Given the description of an element on the screen output the (x, y) to click on. 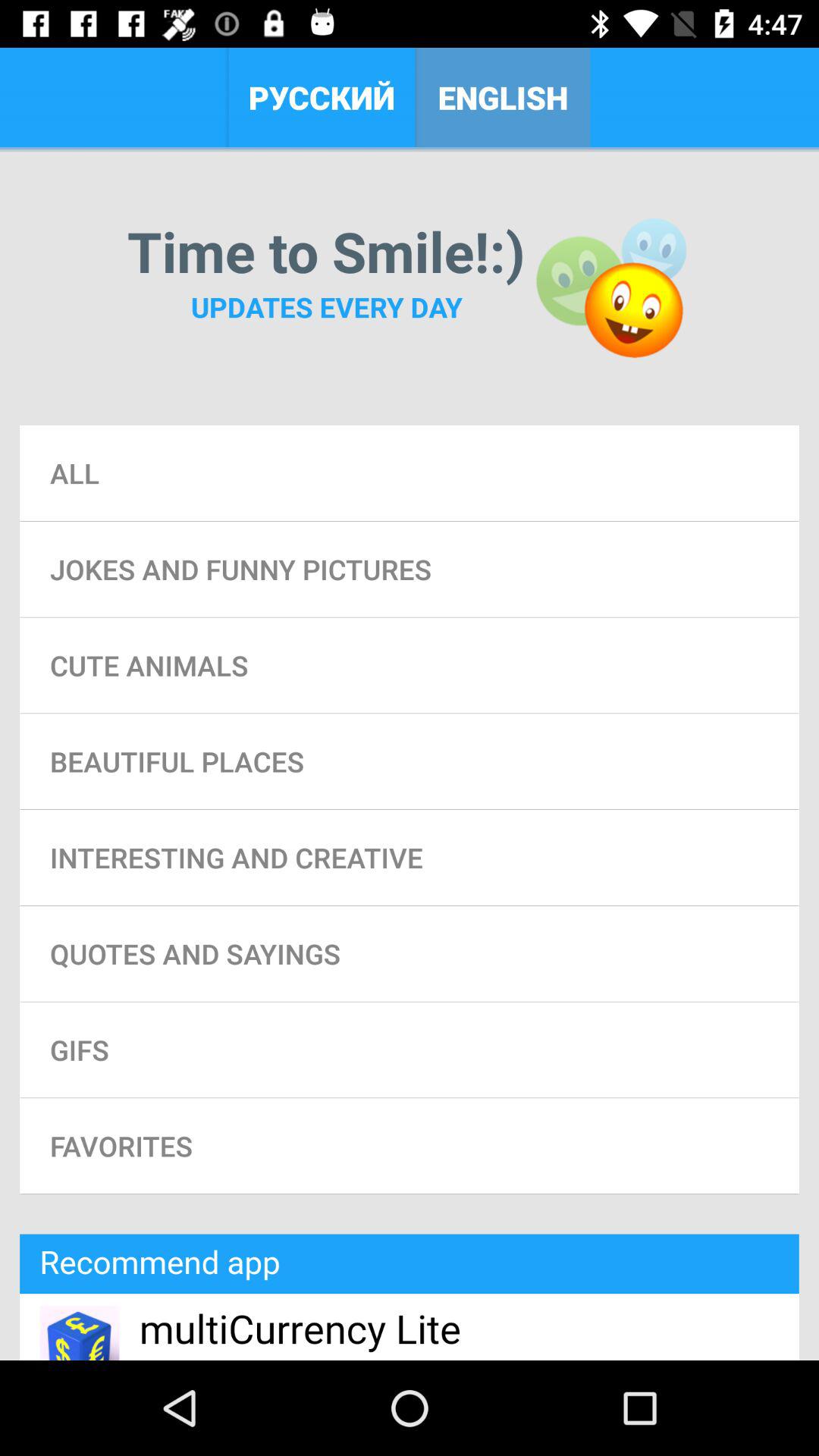
flip to the quotes and sayings item (409, 953)
